Given the description of an element on the screen output the (x, y) to click on. 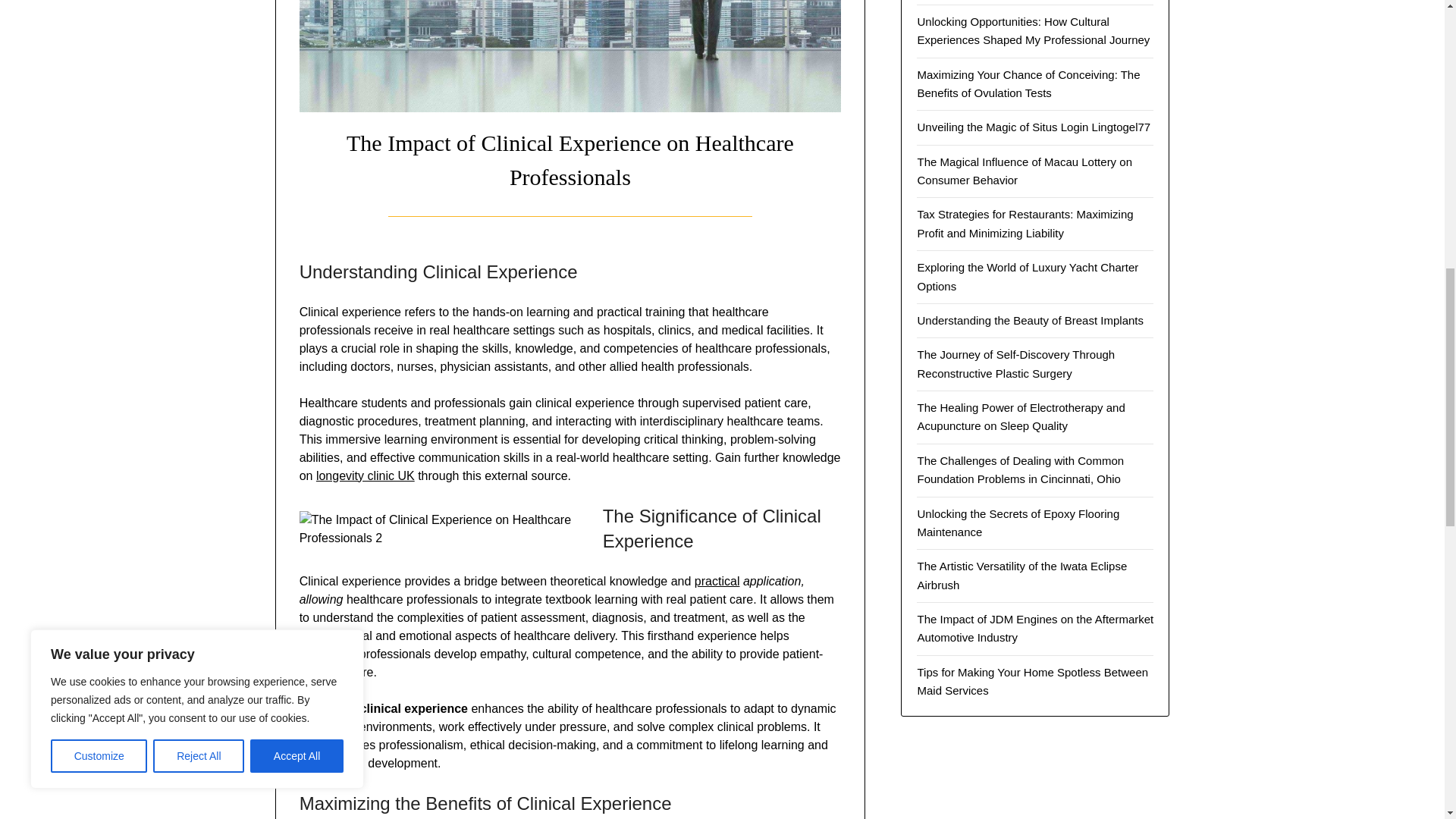
longevity clinic UK (364, 475)
Exploring the World of Luxury Yacht Charter Options (1027, 276)
The Magical Influence of Macau Lottery on Consumer Behavior (1024, 170)
practical (716, 581)
Understanding the Beauty of Breast Implants (1029, 319)
Unveiling the Magic of Situs Login Lingtogel77 (1033, 126)
